Given the description of an element on the screen output the (x, y) to click on. 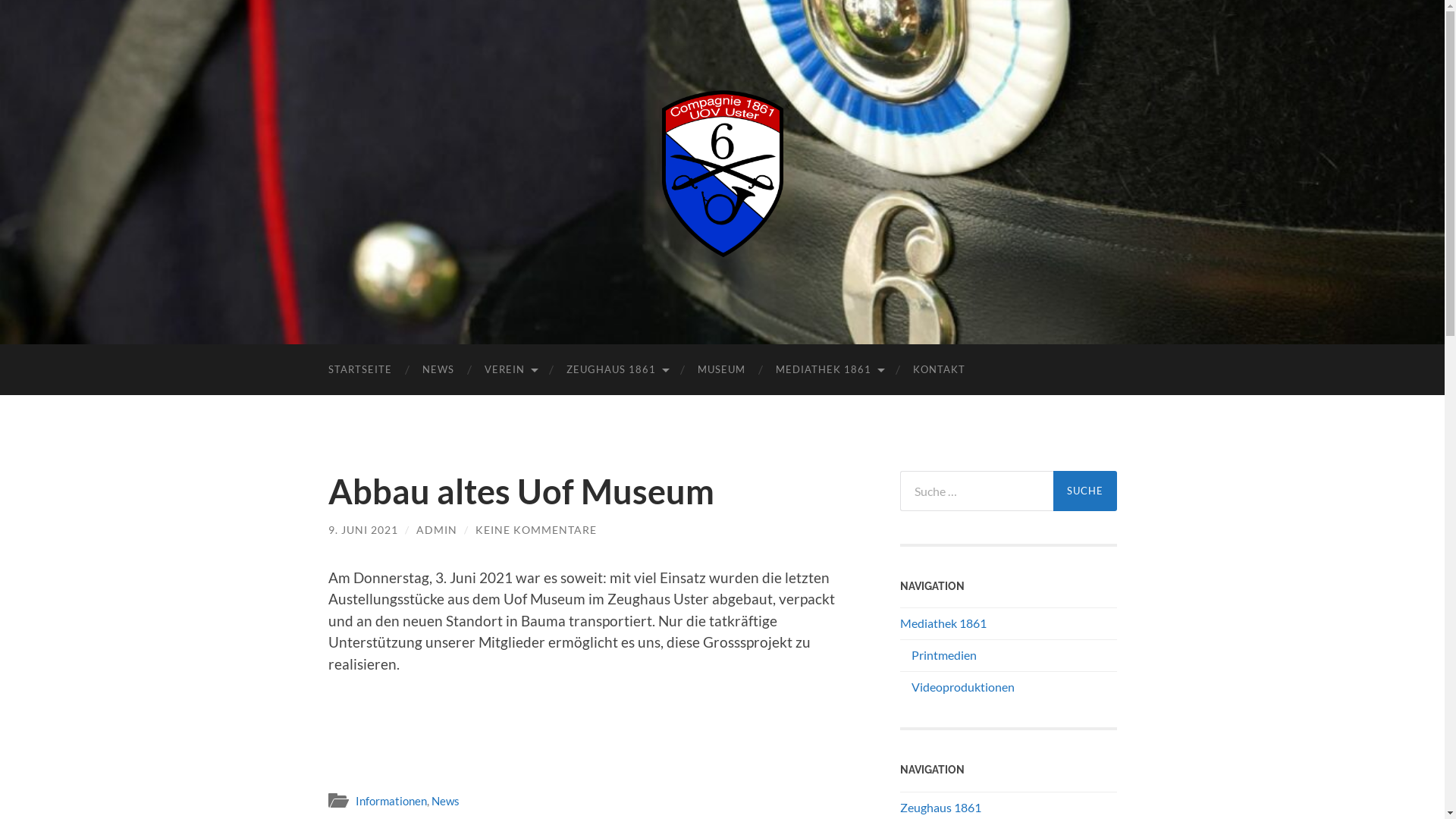
Videoproduktionen Element type: text (962, 686)
KEINE KOMMENTARE Element type: text (535, 529)
MUSEUM Element type: text (721, 369)
NEWS Element type: text (437, 369)
Informationen Element type: text (390, 800)
MEDIATHEK 1861 Element type: text (828, 369)
STARTSEITE Element type: text (359, 369)
Printmedien Element type: text (943, 654)
Zeughaus 1861 Element type: text (939, 807)
Suche Element type: text (1084, 490)
Mediathek 1861 Element type: text (942, 622)
VEREIN Element type: text (509, 369)
News Element type: text (444, 800)
KONTAKT Element type: text (938, 369)
9. JUNI 2021 Element type: text (362, 529)
ZEUGHAUS 1861 Element type: text (615, 369)
ADMIN Element type: text (435, 529)
Compagnie 1861 Element type: text (722, 170)
